Given the description of an element on the screen output the (x, y) to click on. 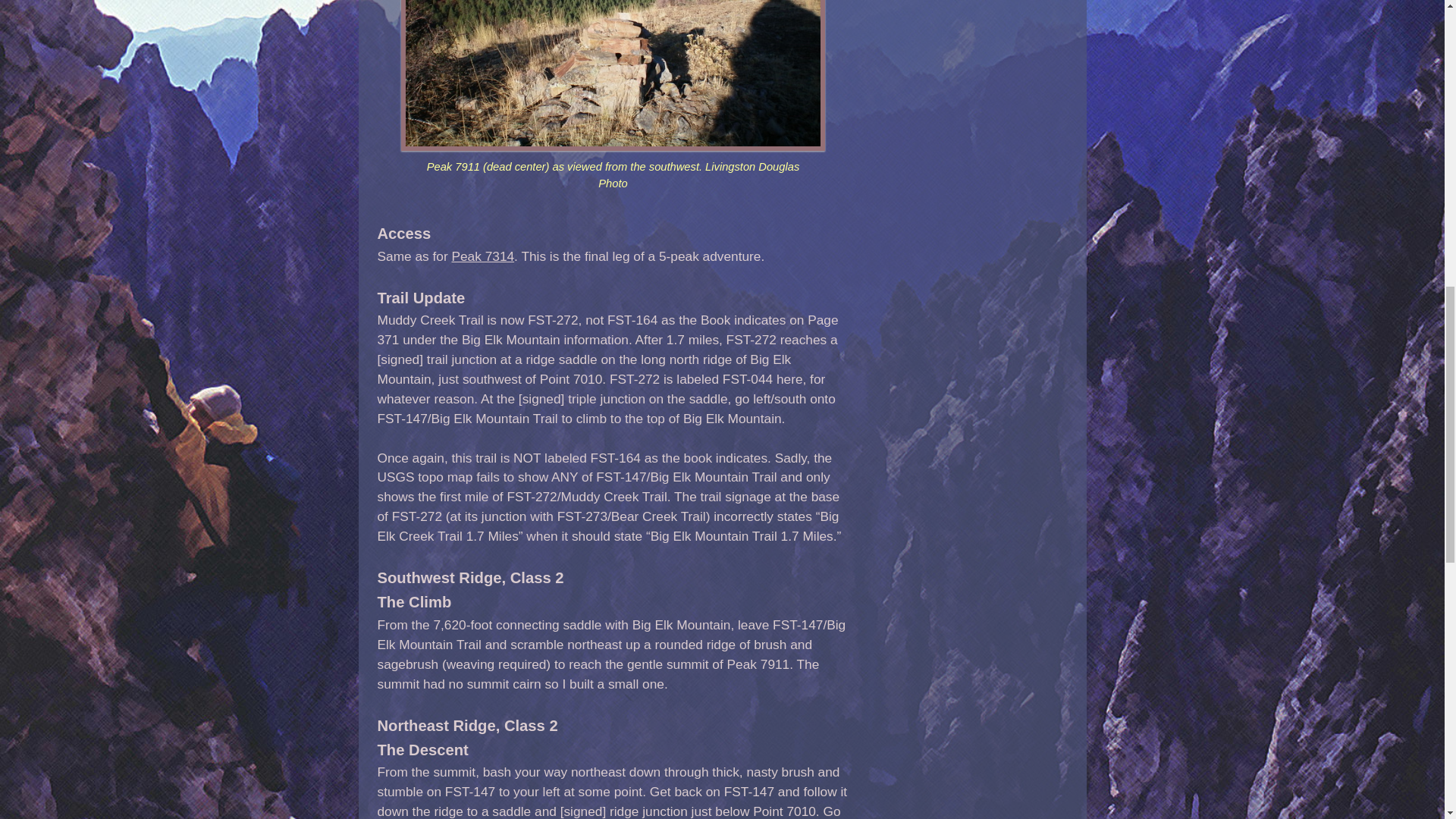
Peak 7314 (482, 255)
